Given the description of an element on the screen output the (x, y) to click on. 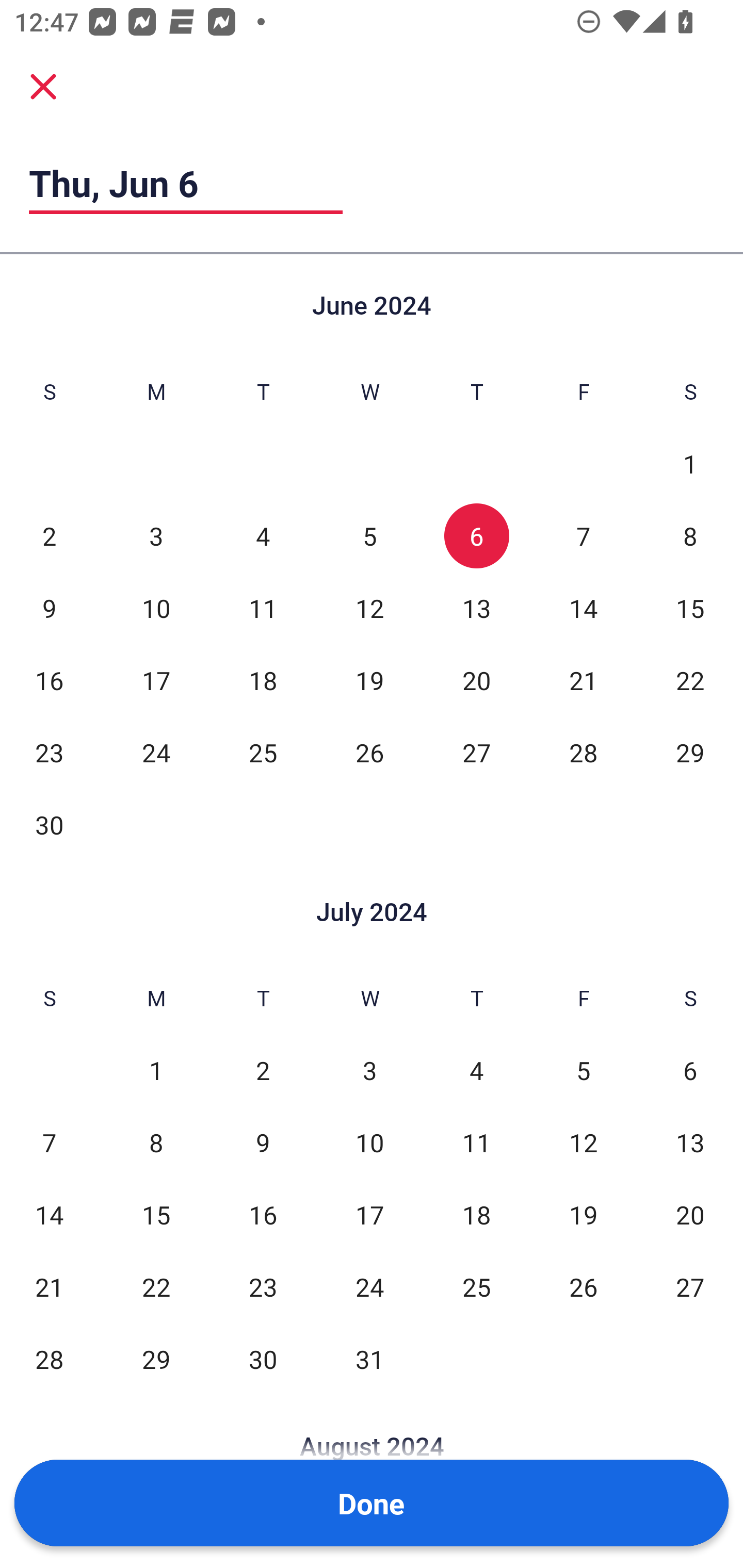
Cancel (43, 86)
Thu, Jun 6 (185, 182)
1 Sat, Jun 1, Not Selected (690, 464)
2 Sun, Jun 2, Not Selected (49, 536)
3 Mon, Jun 3, Not Selected (156, 536)
4 Tue, Jun 4, Not Selected (263, 536)
5 Wed, Jun 5, Not Selected (369, 536)
6 Thu, Jun 6, Selected (476, 536)
7 Fri, Jun 7, Not Selected (583, 536)
8 Sat, Jun 8, Not Selected (690, 536)
9 Sun, Jun 9, Not Selected (49, 608)
10 Mon, Jun 10, Not Selected (156, 608)
11 Tue, Jun 11, Not Selected (263, 608)
12 Wed, Jun 12, Not Selected (369, 608)
13 Thu, Jun 13, Not Selected (476, 608)
14 Fri, Jun 14, Not Selected (583, 608)
15 Sat, Jun 15, Not Selected (690, 608)
16 Sun, Jun 16, Not Selected (49, 680)
17 Mon, Jun 17, Not Selected (156, 680)
18 Tue, Jun 18, Not Selected (263, 680)
19 Wed, Jun 19, Not Selected (369, 680)
20 Thu, Jun 20, Not Selected (476, 680)
21 Fri, Jun 21, Not Selected (583, 680)
22 Sat, Jun 22, Not Selected (690, 680)
23 Sun, Jun 23, Not Selected (49, 752)
24 Mon, Jun 24, Not Selected (156, 752)
25 Tue, Jun 25, Not Selected (263, 752)
26 Wed, Jun 26, Not Selected (369, 752)
27 Thu, Jun 27, Not Selected (476, 752)
28 Fri, Jun 28, Not Selected (583, 752)
29 Sat, Jun 29, Not Selected (690, 752)
30 Sun, Jun 30, Not Selected (49, 824)
1 Mon, Jul 1, Not Selected (156, 1070)
2 Tue, Jul 2, Not Selected (263, 1070)
3 Wed, Jul 3, Not Selected (369, 1070)
4 Thu, Jul 4, Not Selected (476, 1070)
5 Fri, Jul 5, Not Selected (583, 1070)
6 Sat, Jul 6, Not Selected (690, 1070)
7 Sun, Jul 7, Not Selected (49, 1143)
8 Mon, Jul 8, Not Selected (156, 1143)
9 Tue, Jul 9, Not Selected (263, 1143)
10 Wed, Jul 10, Not Selected (369, 1143)
11 Thu, Jul 11, Not Selected (476, 1143)
12 Fri, Jul 12, Not Selected (583, 1143)
13 Sat, Jul 13, Not Selected (690, 1143)
14 Sun, Jul 14, Not Selected (49, 1215)
15 Mon, Jul 15, Not Selected (156, 1215)
16 Tue, Jul 16, Not Selected (263, 1215)
17 Wed, Jul 17, Not Selected (369, 1215)
18 Thu, Jul 18, Not Selected (476, 1215)
